Given the description of an element on the screen output the (x, y) to click on. 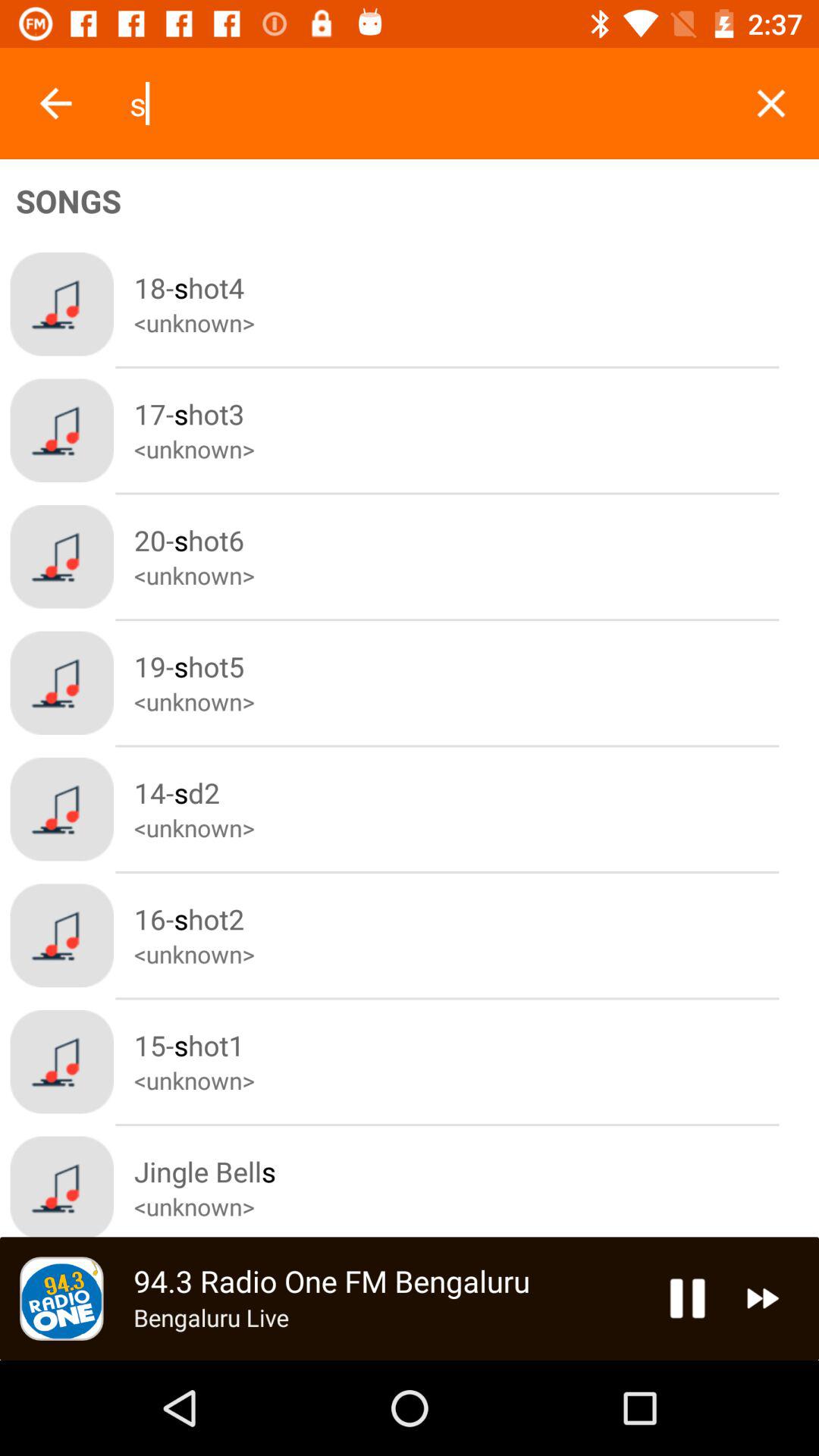
go back (55, 103)
